Given the description of an element on the screen output the (x, y) to click on. 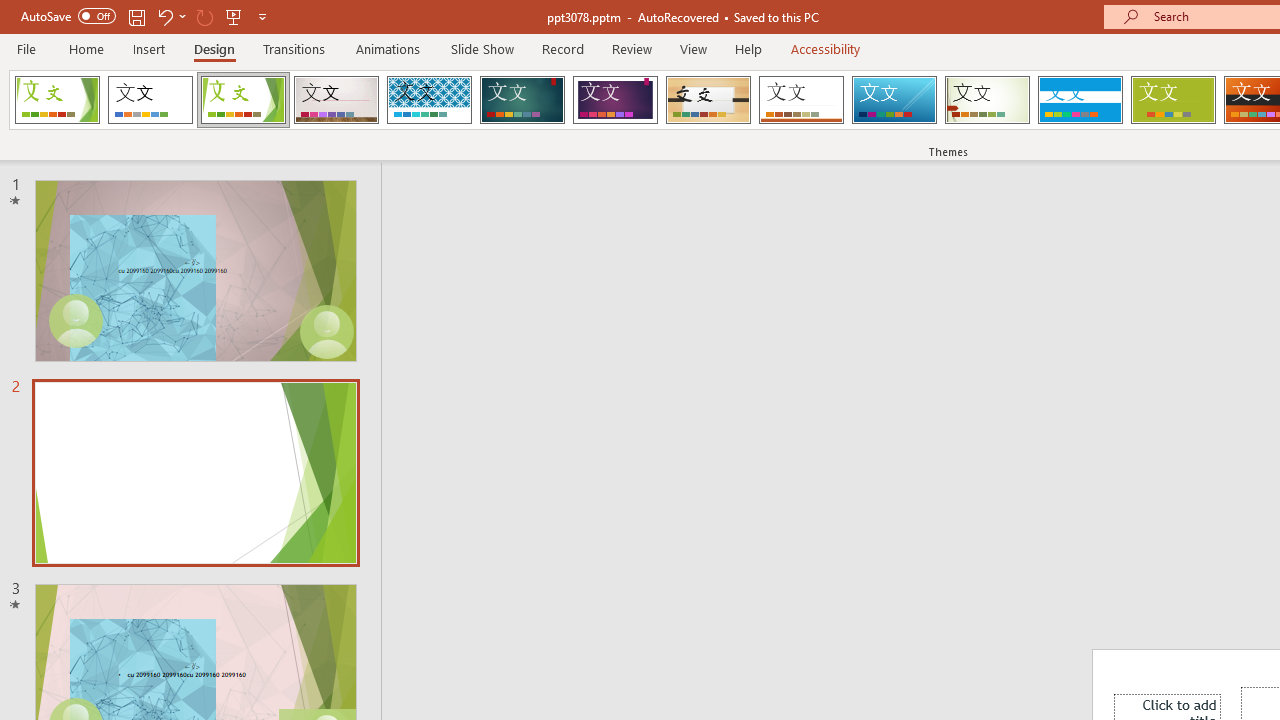
Facet (243, 100)
Gallery (336, 100)
Ion Boardroom (615, 100)
Retrospect (801, 100)
